Given the description of an element on the screen output the (x, y) to click on. 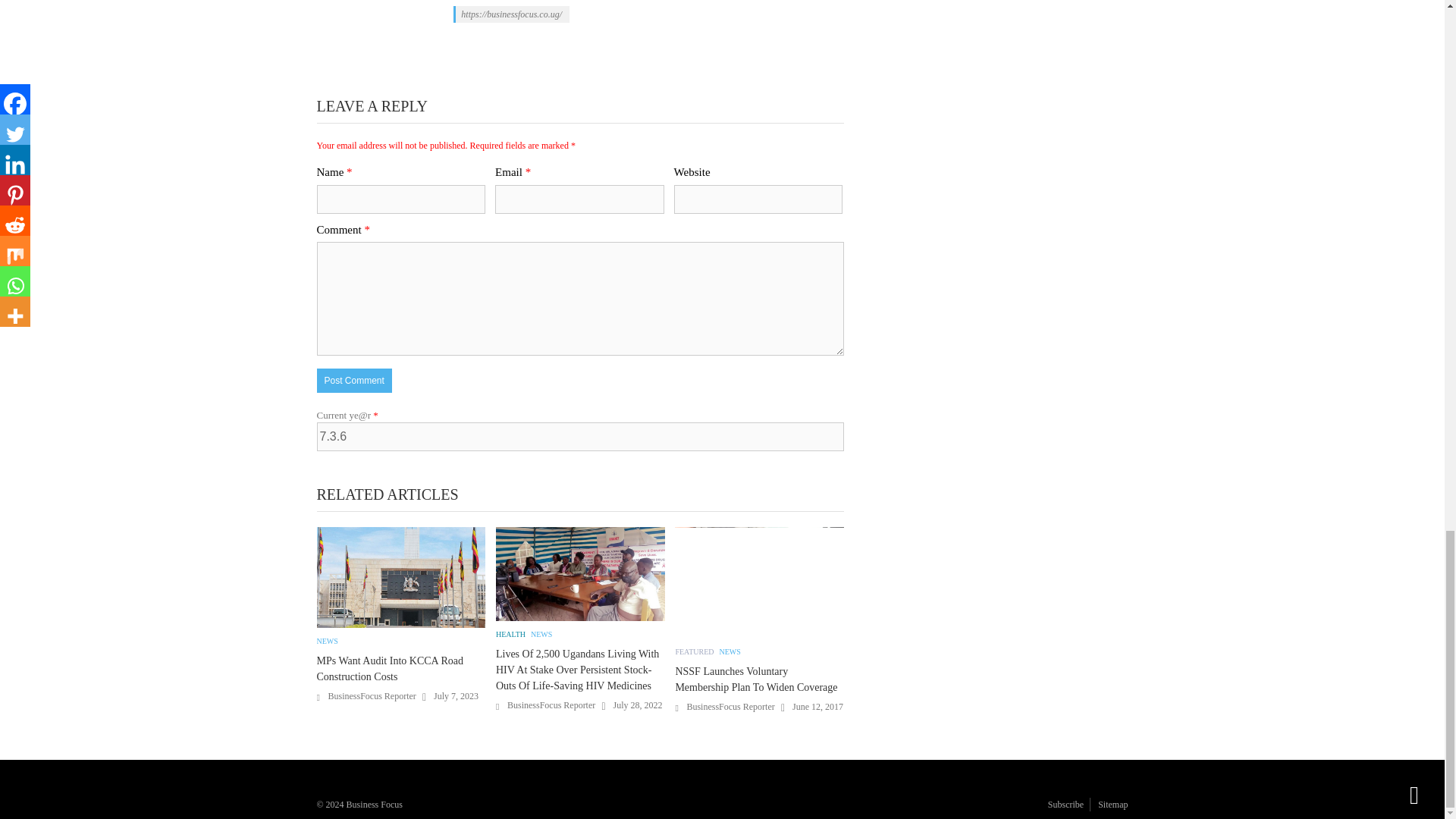
7.3.6 (580, 436)
Post Comment (354, 379)
NSSF Launches Voluntary Membership Plan To Widen Coverage (759, 583)
